Given the description of an element on the screen output the (x, y) to click on. 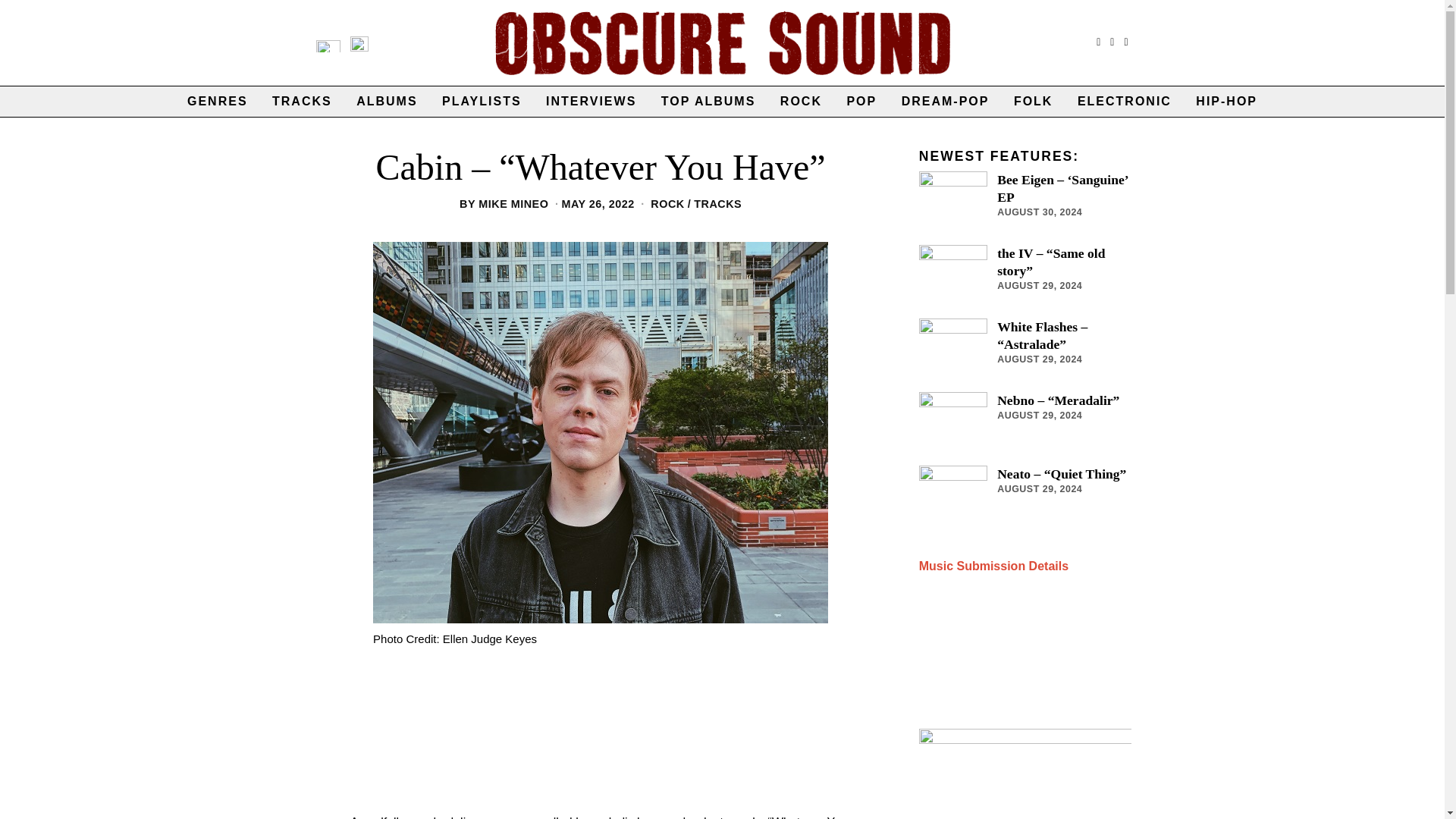
ROCK (667, 203)
ROCK (801, 101)
ALBUMS (387, 101)
PLAYLISTS (481, 101)
POP (860, 101)
MIKE MINEO (513, 203)
HIP-HOP (1226, 101)
FOLK (1033, 101)
TOP ALBUMS (708, 101)
TRACKS (302, 101)
